Given the description of an element on the screen output the (x, y) to click on. 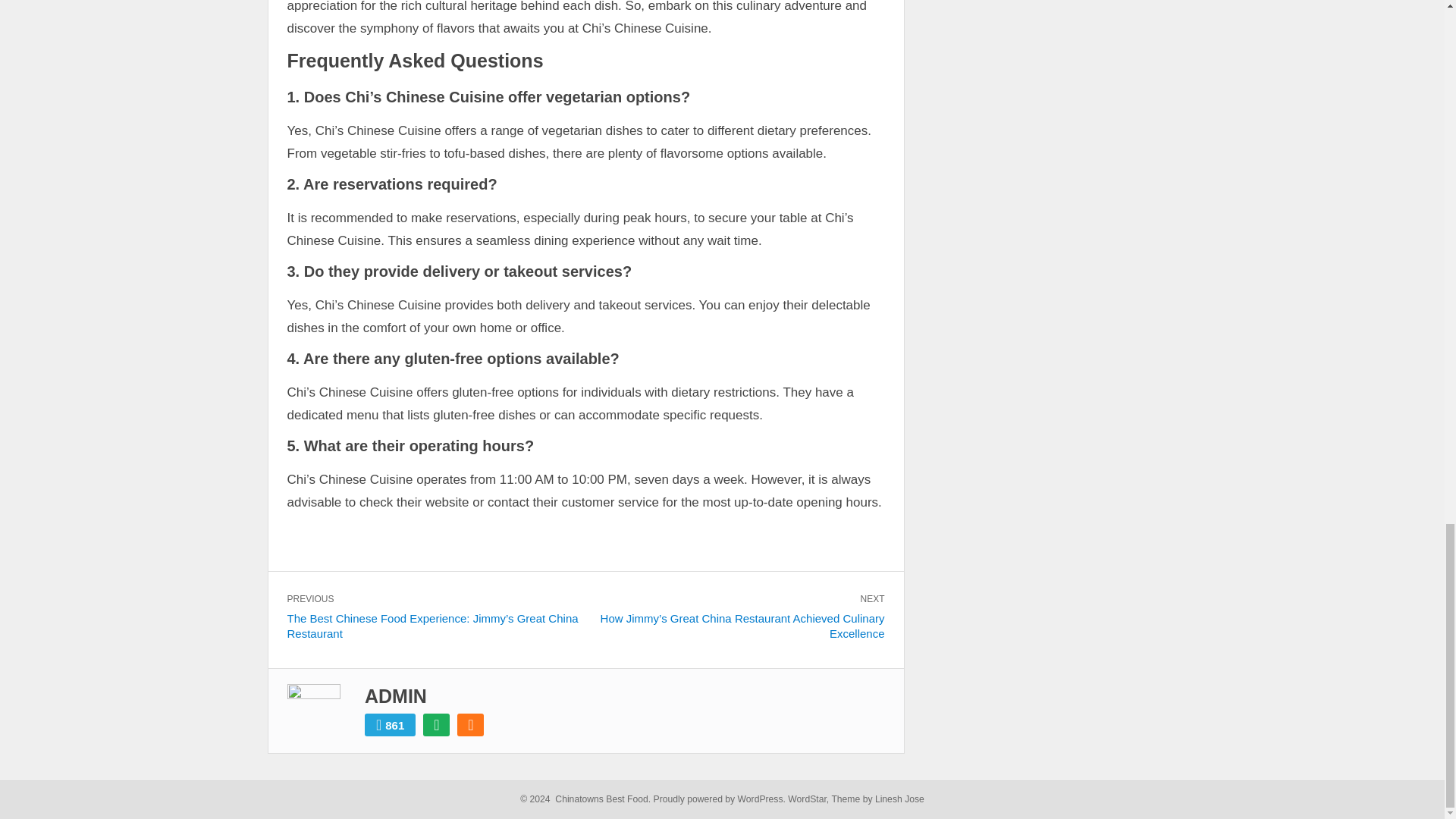
Posts by admin (395, 695)
861 Posts (389, 724)
Subscribe RSS Feed (470, 724)
Author's Website (436, 724)
861 (389, 724)
ADMIN (395, 695)
